Given the description of an element on the screen output the (x, y) to click on. 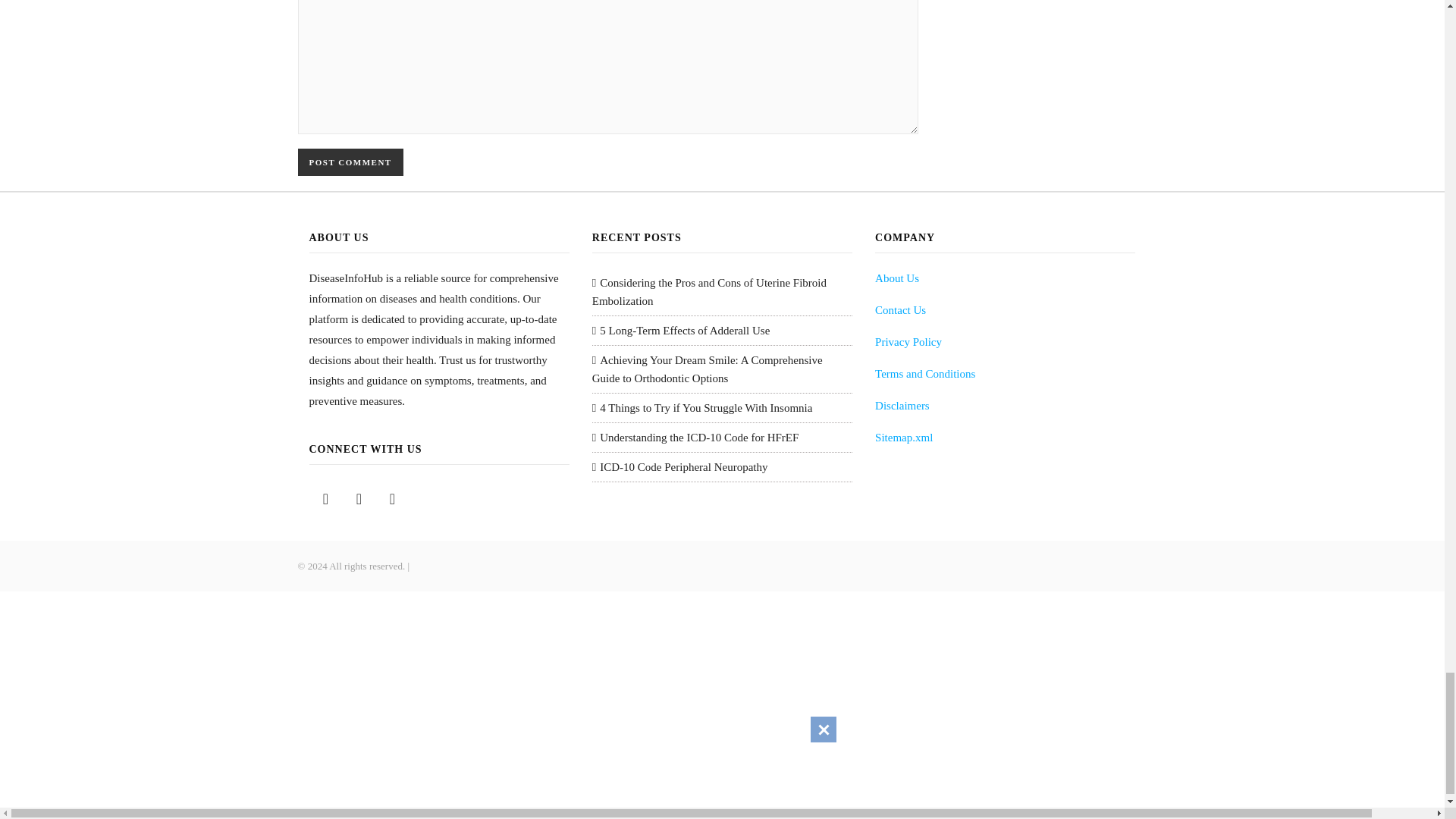
Social Media Icons (392, 499)
Social Media Icons (358, 499)
Post Comment (350, 162)
Social Media Icons (325, 499)
